Given the description of an element on the screen output the (x, y) to click on. 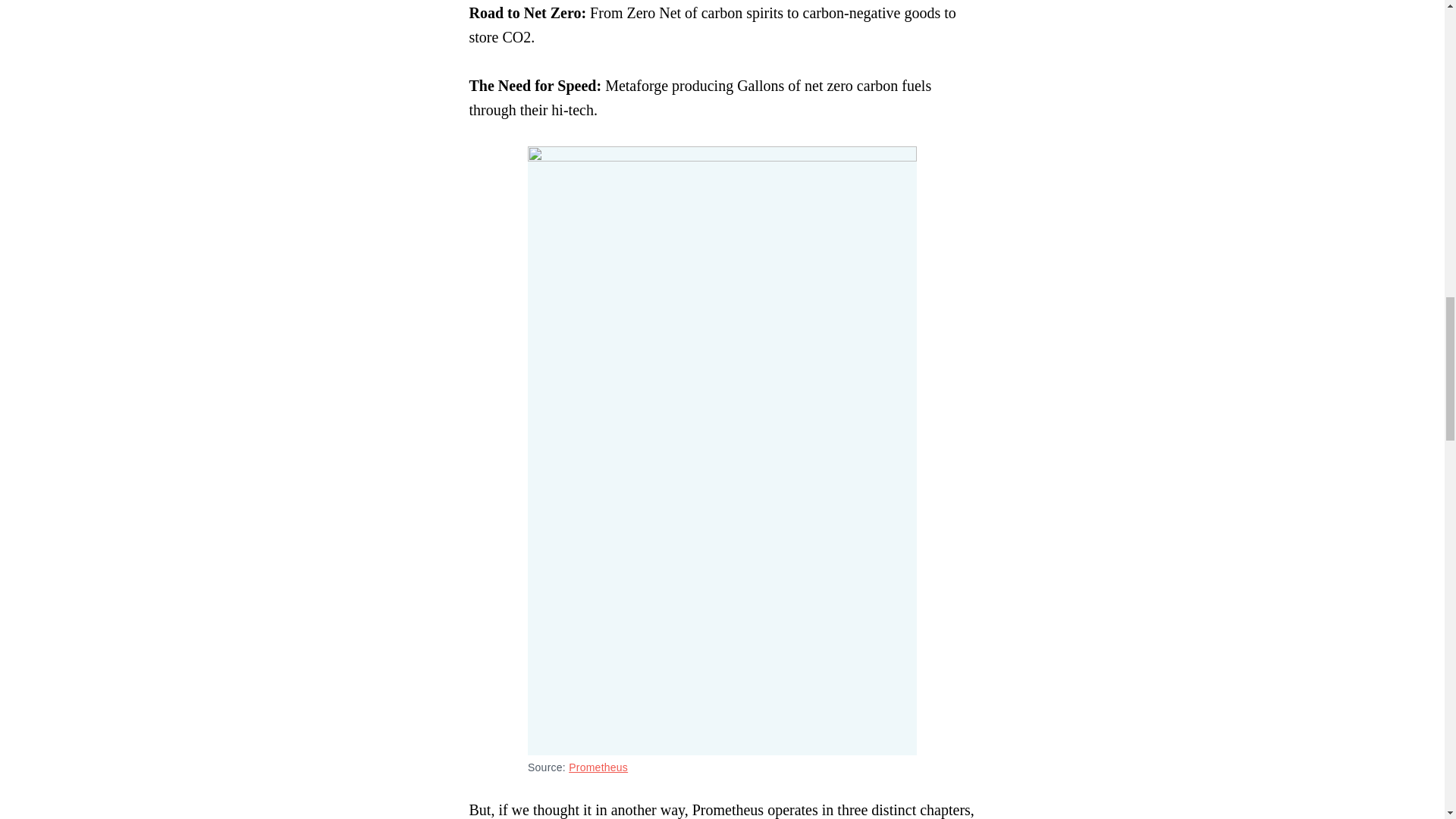
Prometheus (598, 767)
